Given the description of an element on the screen output the (x, y) to click on. 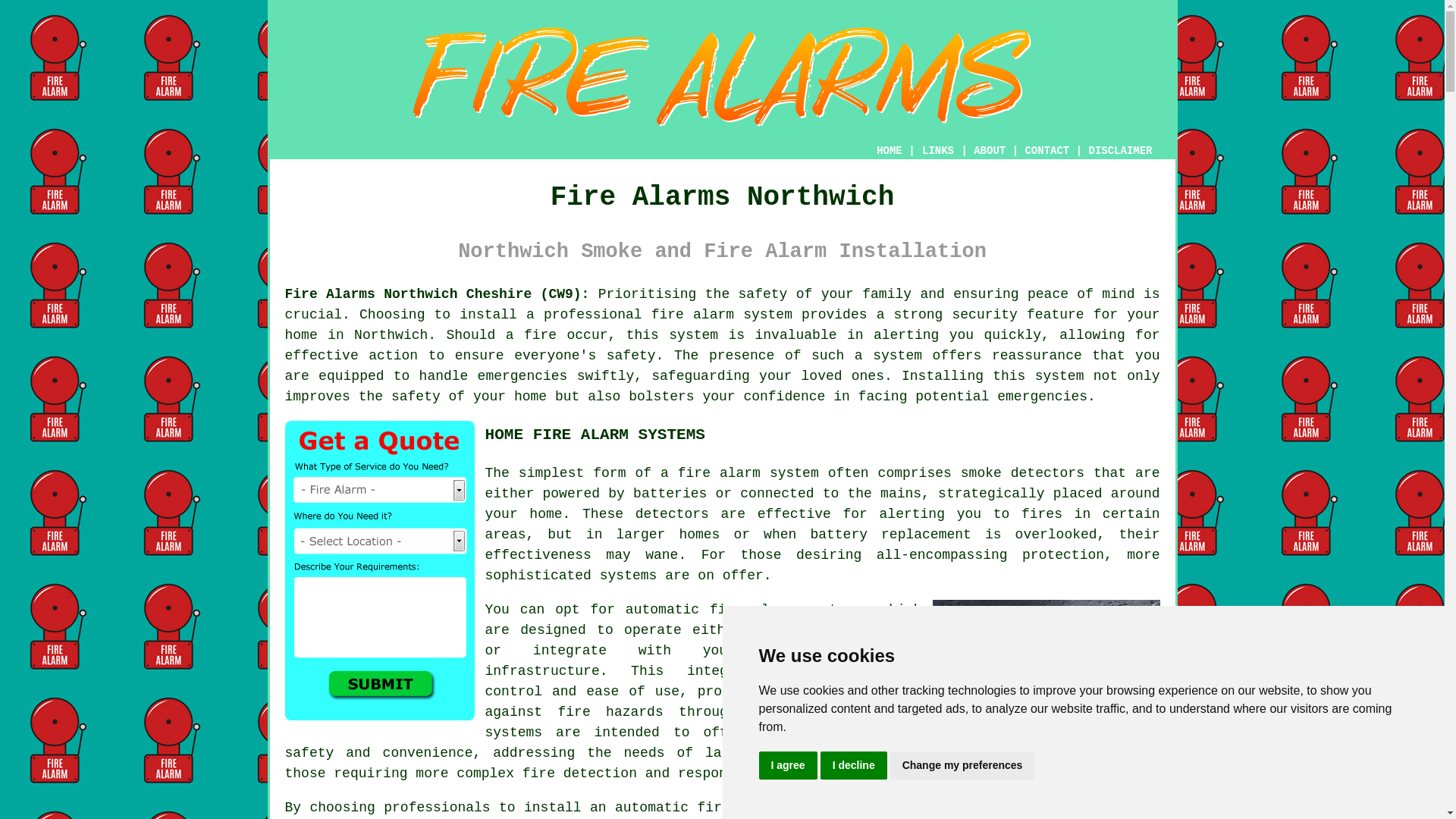
LINKS (938, 151)
fire alarm system (721, 314)
Fire Alarms Northwich (721, 76)
Change my preferences (962, 765)
automatic fire alarm (696, 807)
fire alarm (751, 609)
fire alarm (719, 473)
HOME (889, 150)
I agree (787, 765)
I decline (853, 765)
